Given the description of an element on the screen output the (x, y) to click on. 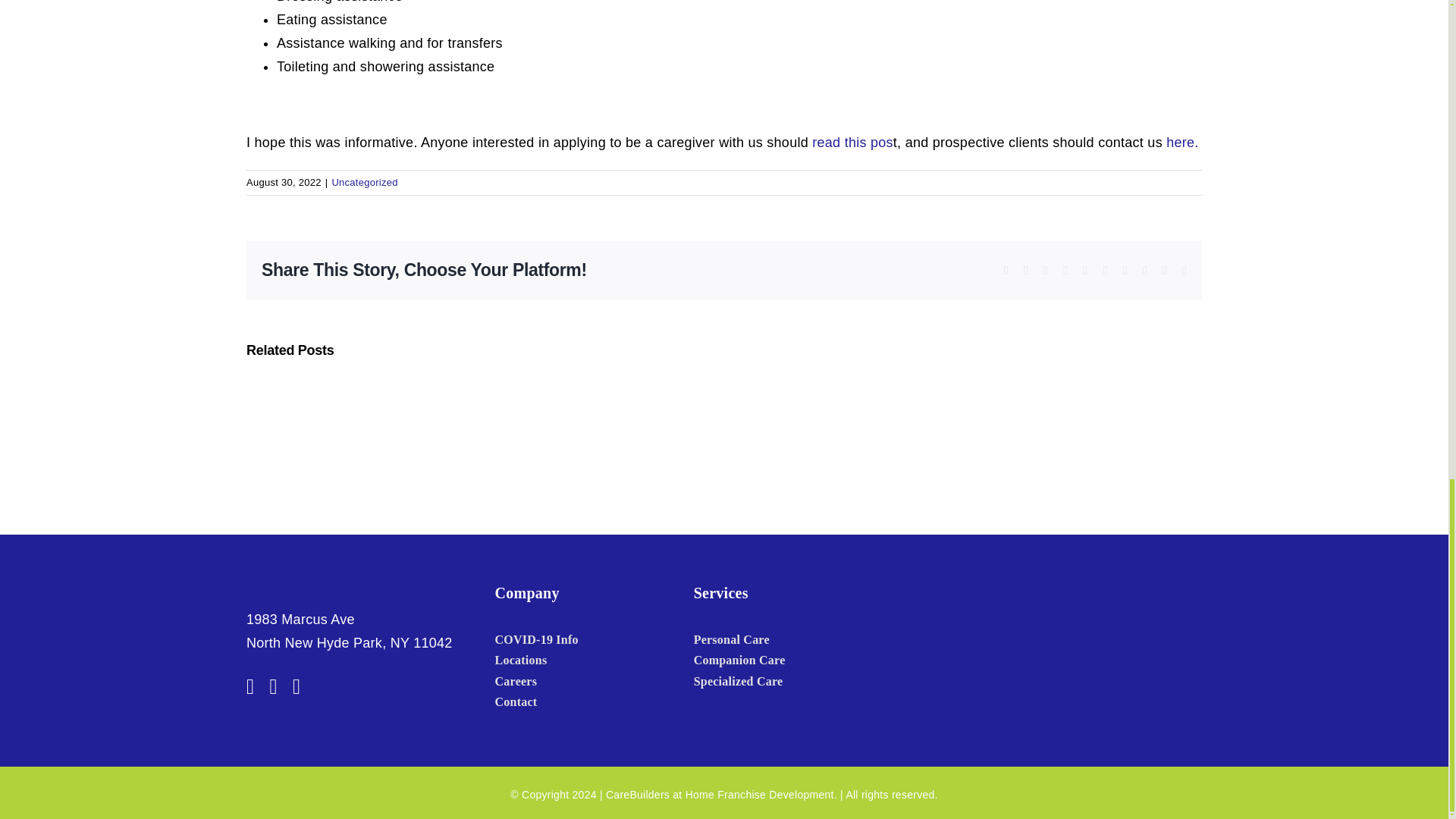
read this pos (852, 142)
here. (1182, 142)
Uncategorized (364, 182)
